Given the description of an element on the screen output the (x, y) to click on. 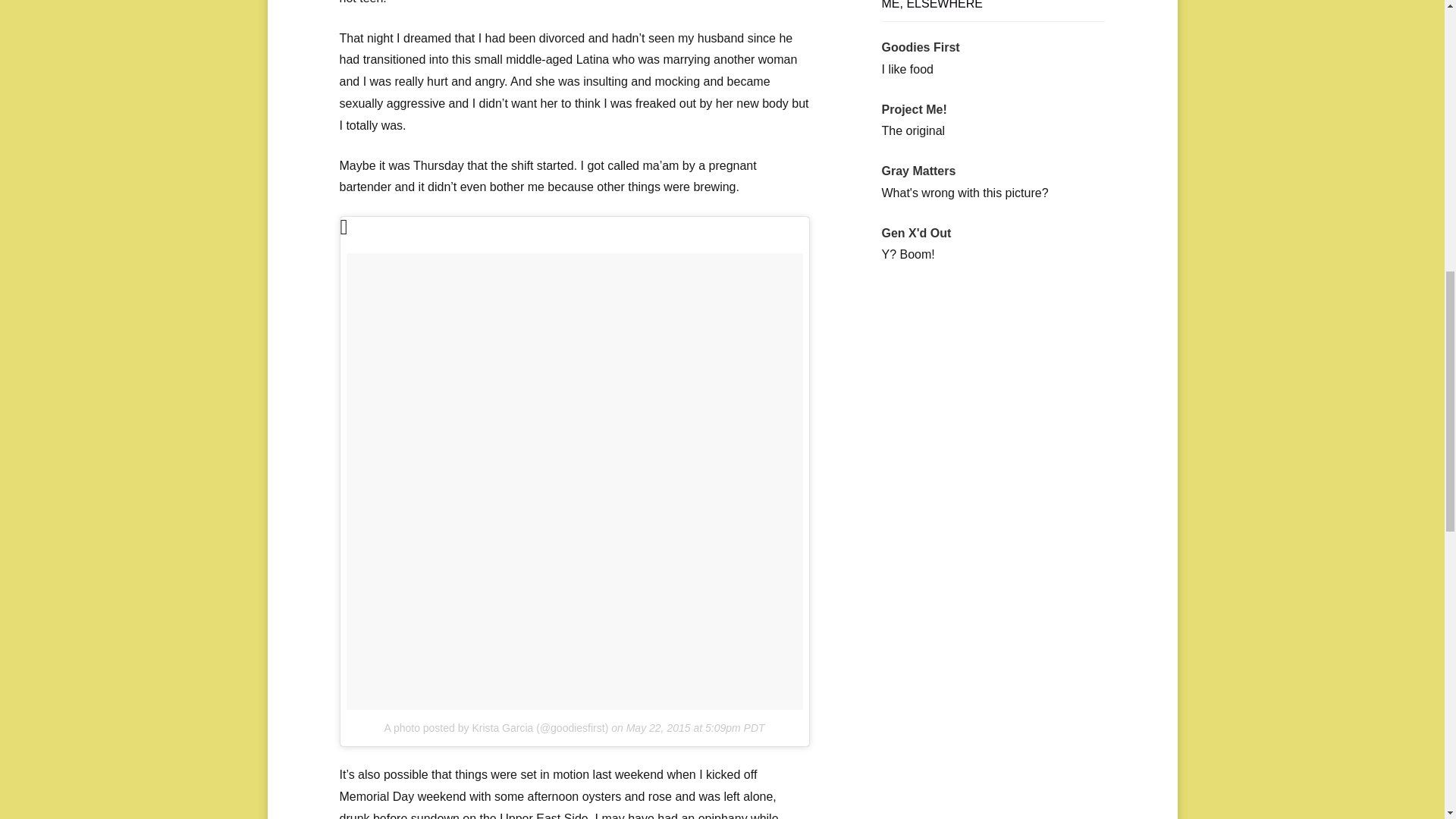
Project Me! (913, 109)
Gen X'd Out (915, 232)
Goodies First (919, 47)
Gray Matters (917, 170)
